Given the description of an element on the screen output the (x, y) to click on. 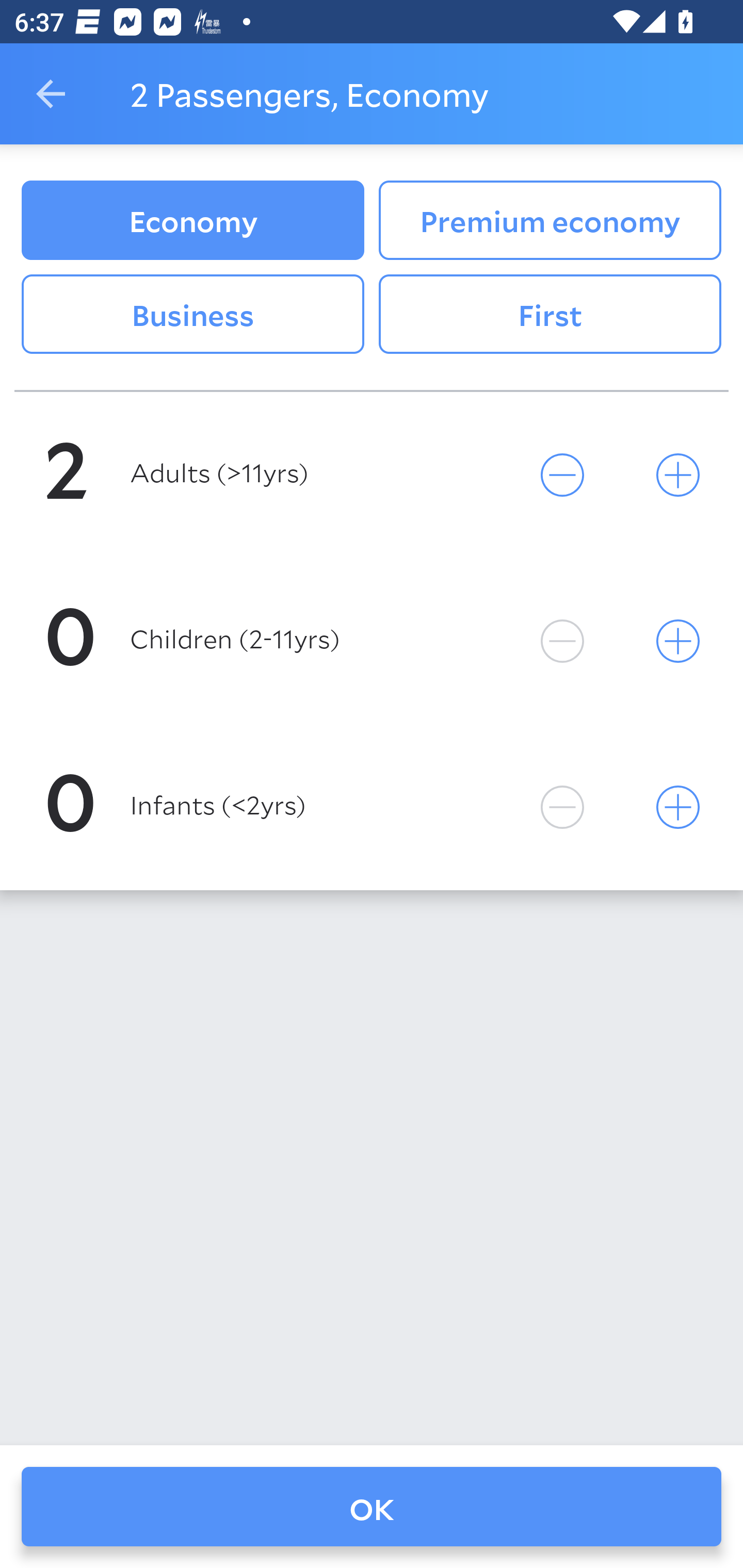
Navigate up (50, 93)
Economy (192, 220)
Premium economy (549, 220)
Business (192, 314)
First (549, 314)
OK (371, 1506)
